Given the description of an element on the screen output the (x, y) to click on. 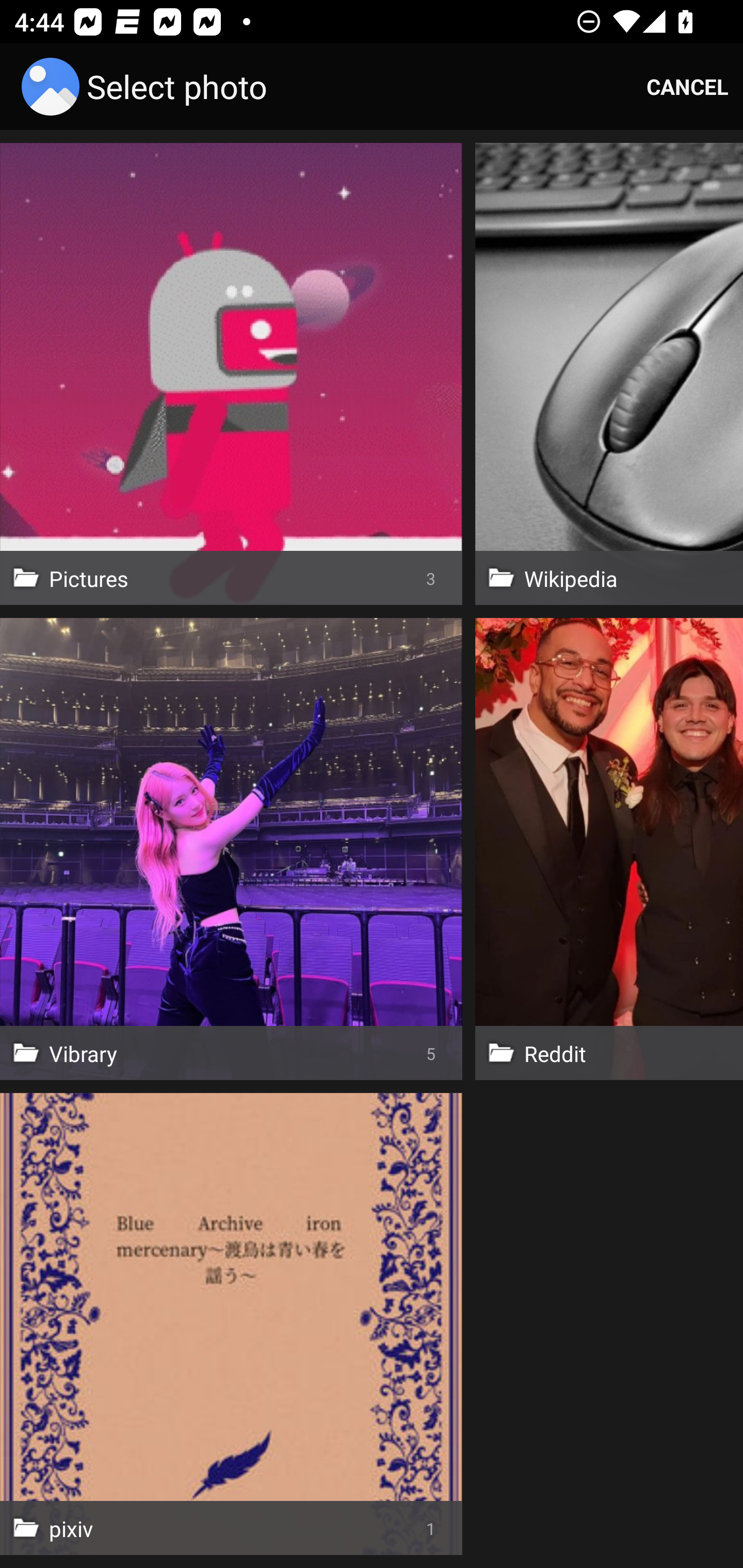
Select photo (148, 86)
CANCEL (687, 86)
